Given the description of an element on the screen output the (x, y) to click on. 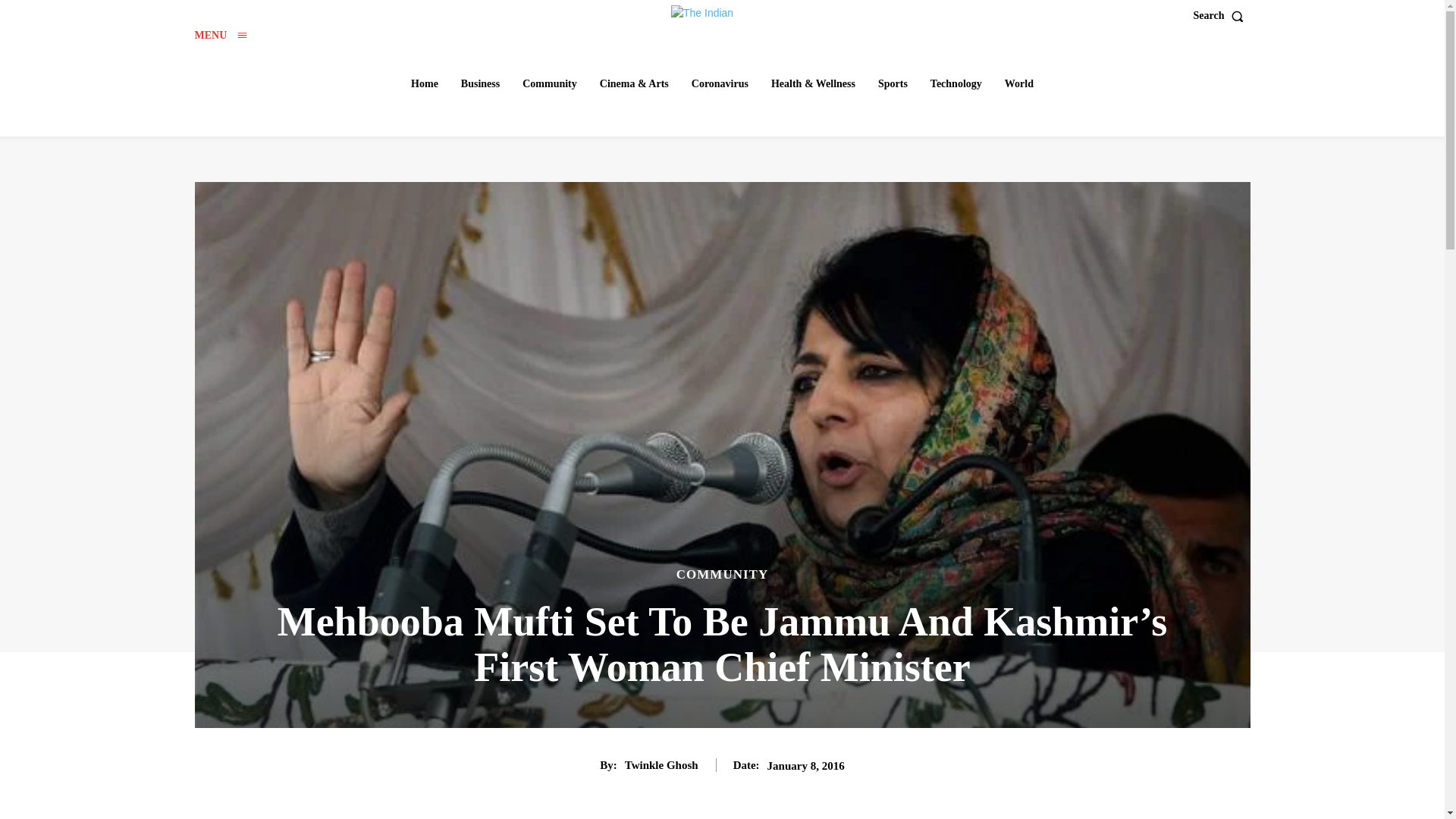
The Indian Telegraph (724, 13)
Community (550, 83)
Home (424, 83)
World (1019, 83)
Coronavirus (719, 83)
Business (479, 83)
Search (1221, 15)
MENU (220, 34)
Sports (892, 83)
Technology (956, 83)
